Given the description of an element on the screen output the (x, y) to click on. 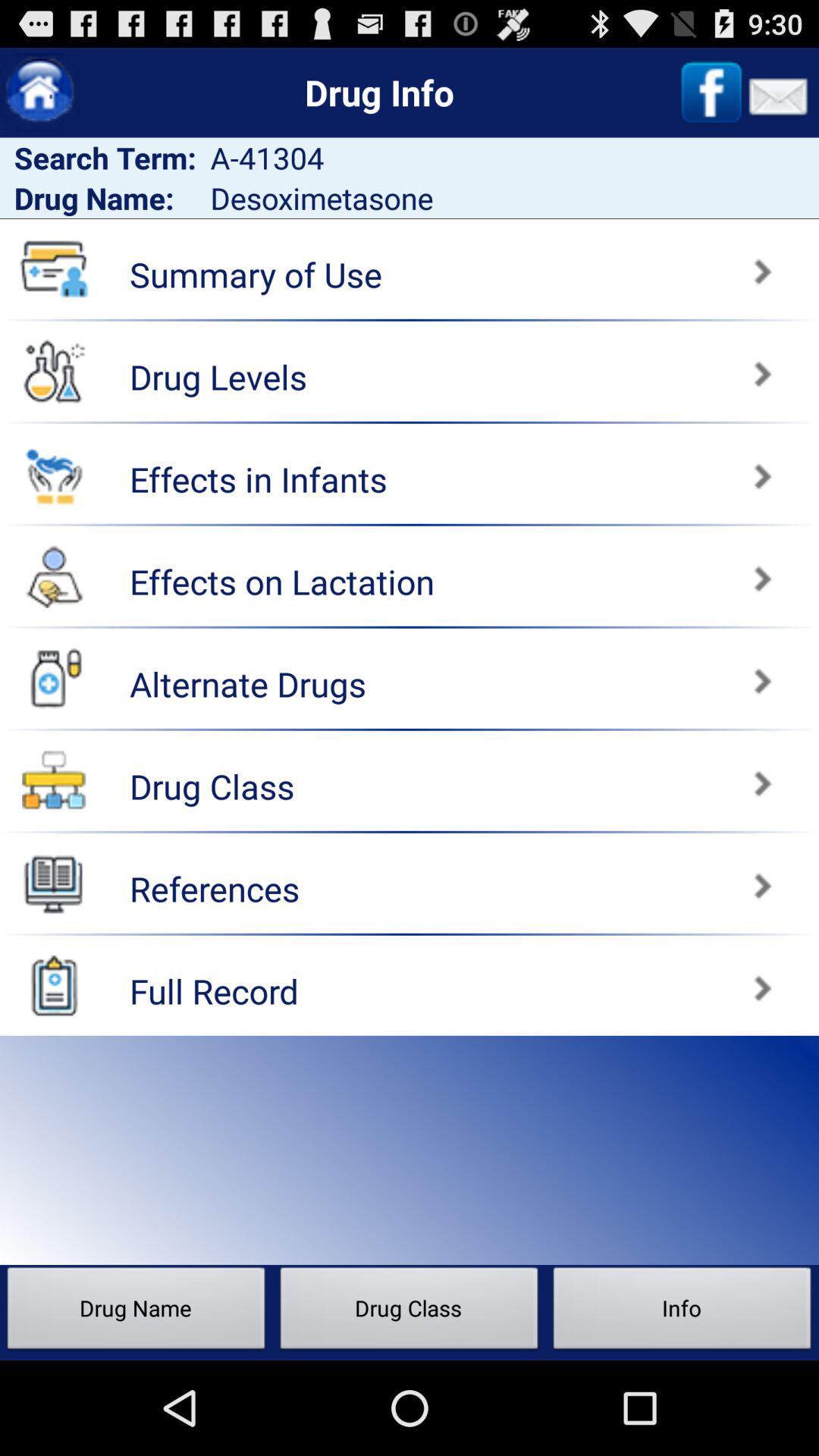
initial page botton (39, 92)
